Given the description of an element on the screen output the (x, y) to click on. 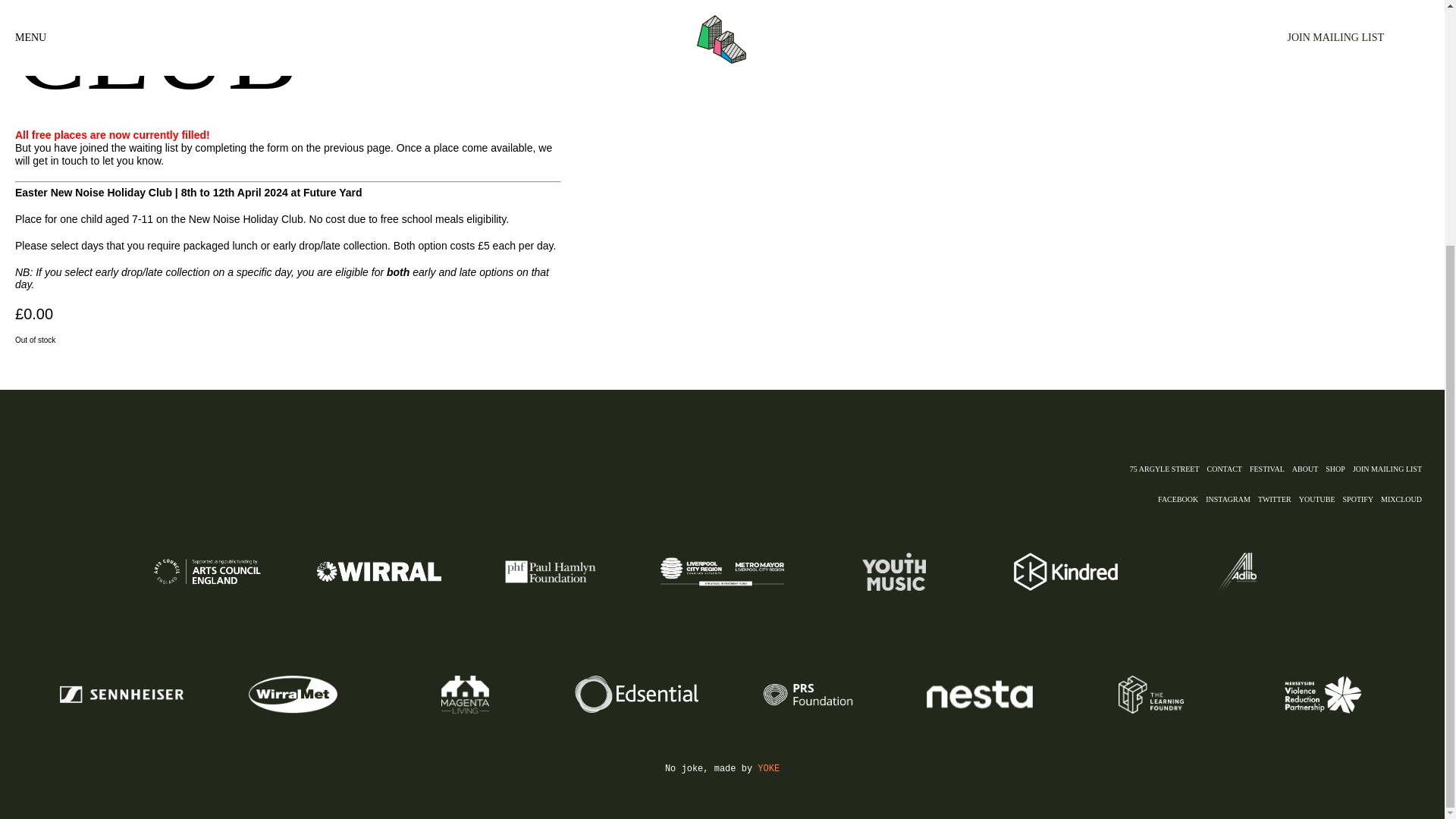
CONTACT (1228, 469)
JOIN MAILING LIST (1390, 469)
SHOP (1338, 469)
FESTIVAL (1270, 469)
75 ARGYLE STREET (1168, 469)
MIXCLOUD (1404, 499)
ABOUT (1308, 469)
YOUTUBE (1320, 499)
SPOTIFY (1361, 499)
INSTAGRAM (1231, 499)
FACEBOOK (1181, 499)
TWITTER (1277, 499)
